Given the description of an element on the screen output the (x, y) to click on. 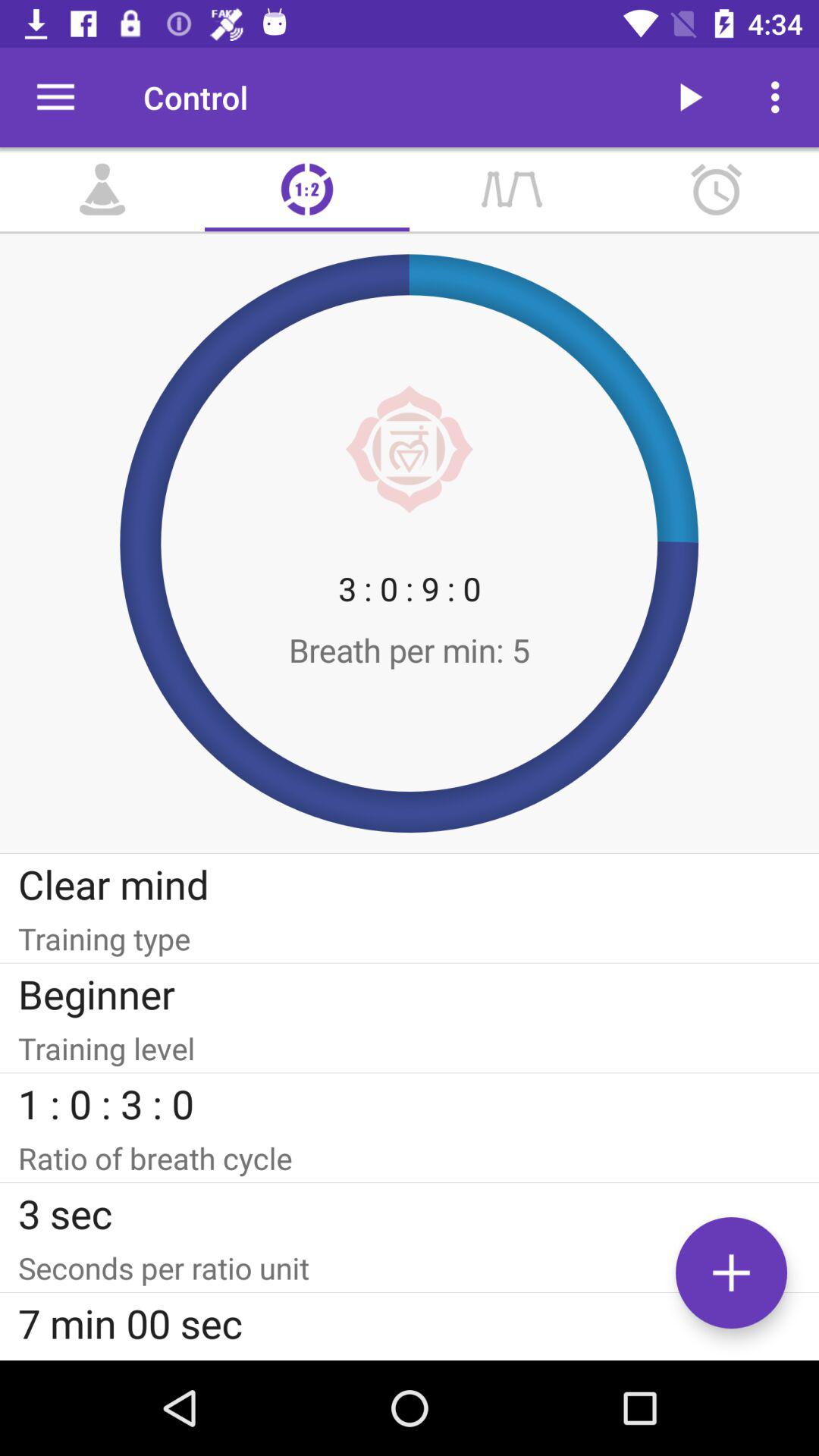
jump to the clear mind (409, 883)
